Given the description of an element on the screen output the (x, y) to click on. 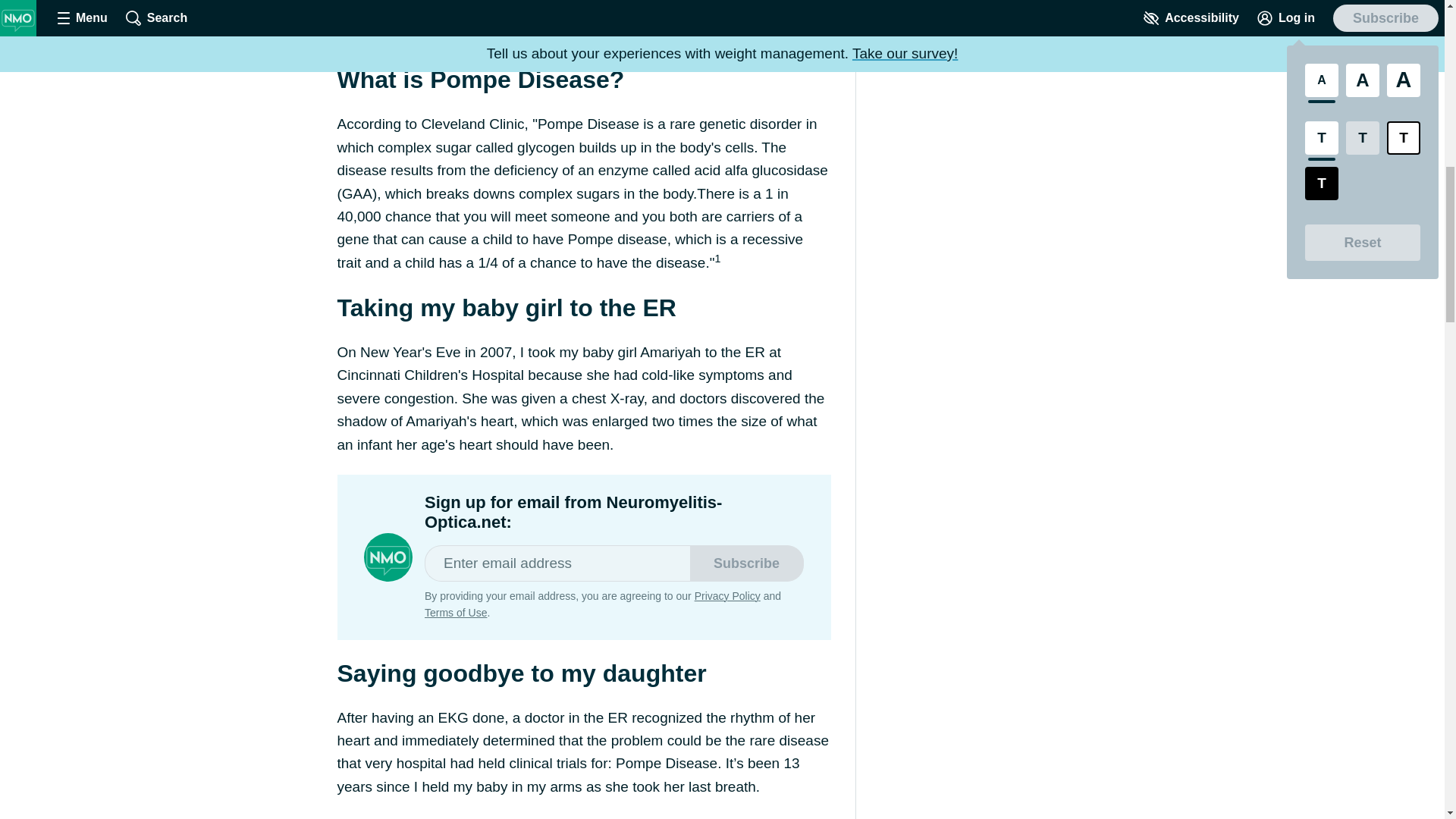
Terms of Use (455, 612)
Subscribe (746, 563)
Privacy Policy (727, 595)
